Given the description of an element on the screen output the (x, y) to click on. 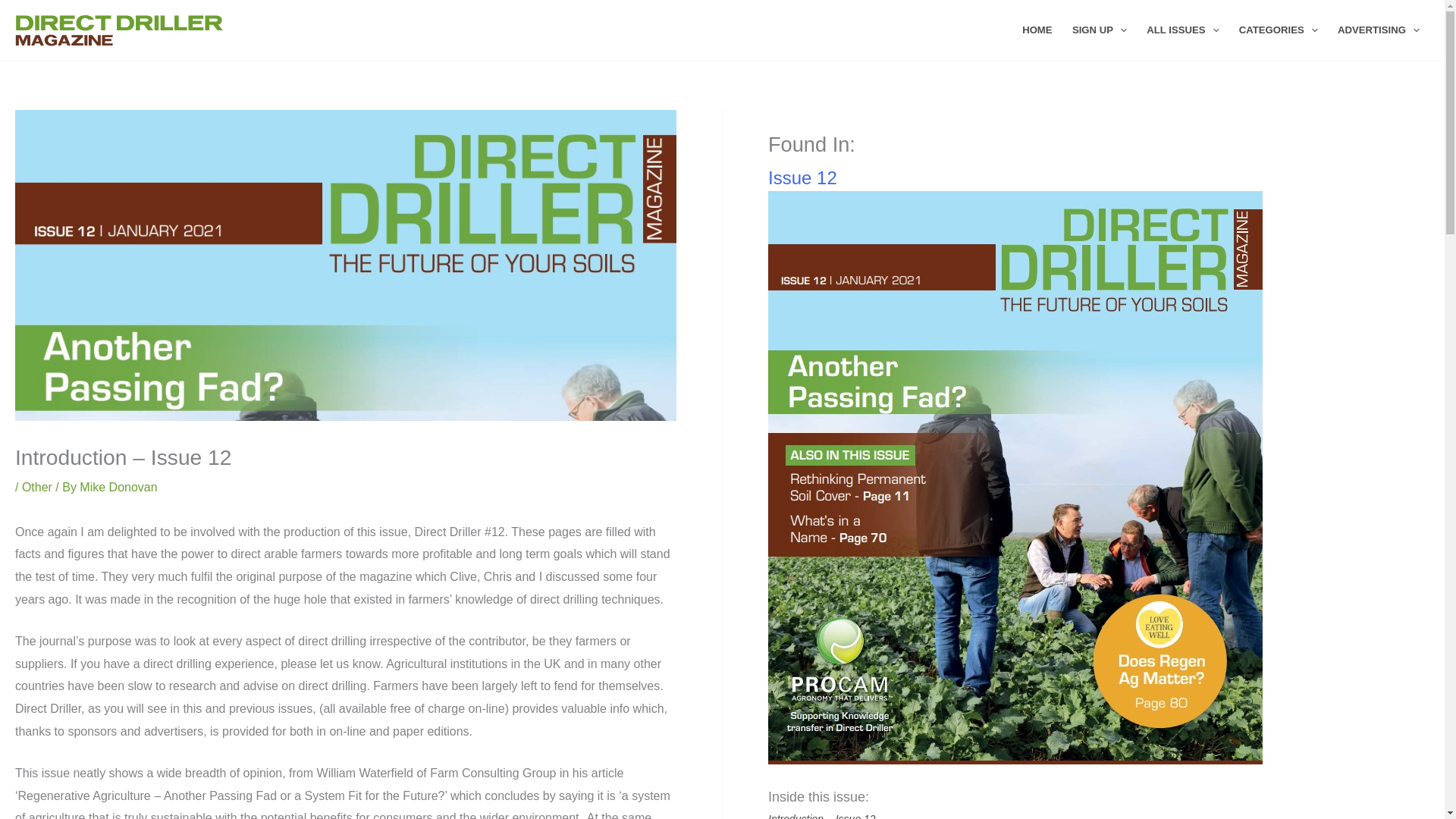
SIGN UP (1099, 30)
View all posts by Mike Donovan (118, 486)
CATEGORIES (1277, 30)
ADVERTISING (1378, 30)
ALL ISSUES (1182, 30)
